Given the description of an element on the screen output the (x, y) to click on. 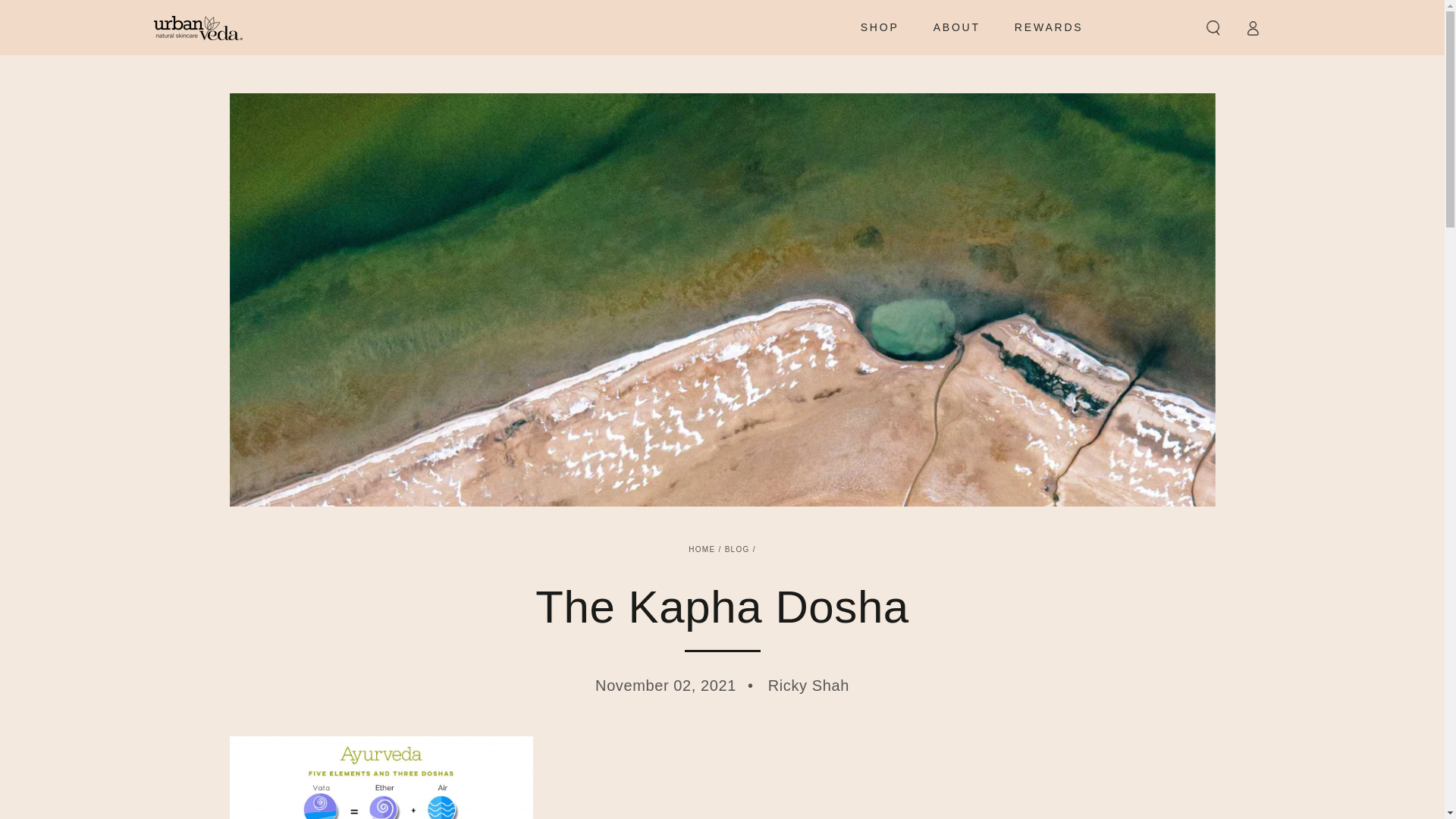
Back to the frontpage (701, 549)
SKIP TO CONTENT (67, 14)
